Given the description of an element on the screen output the (x, y) to click on. 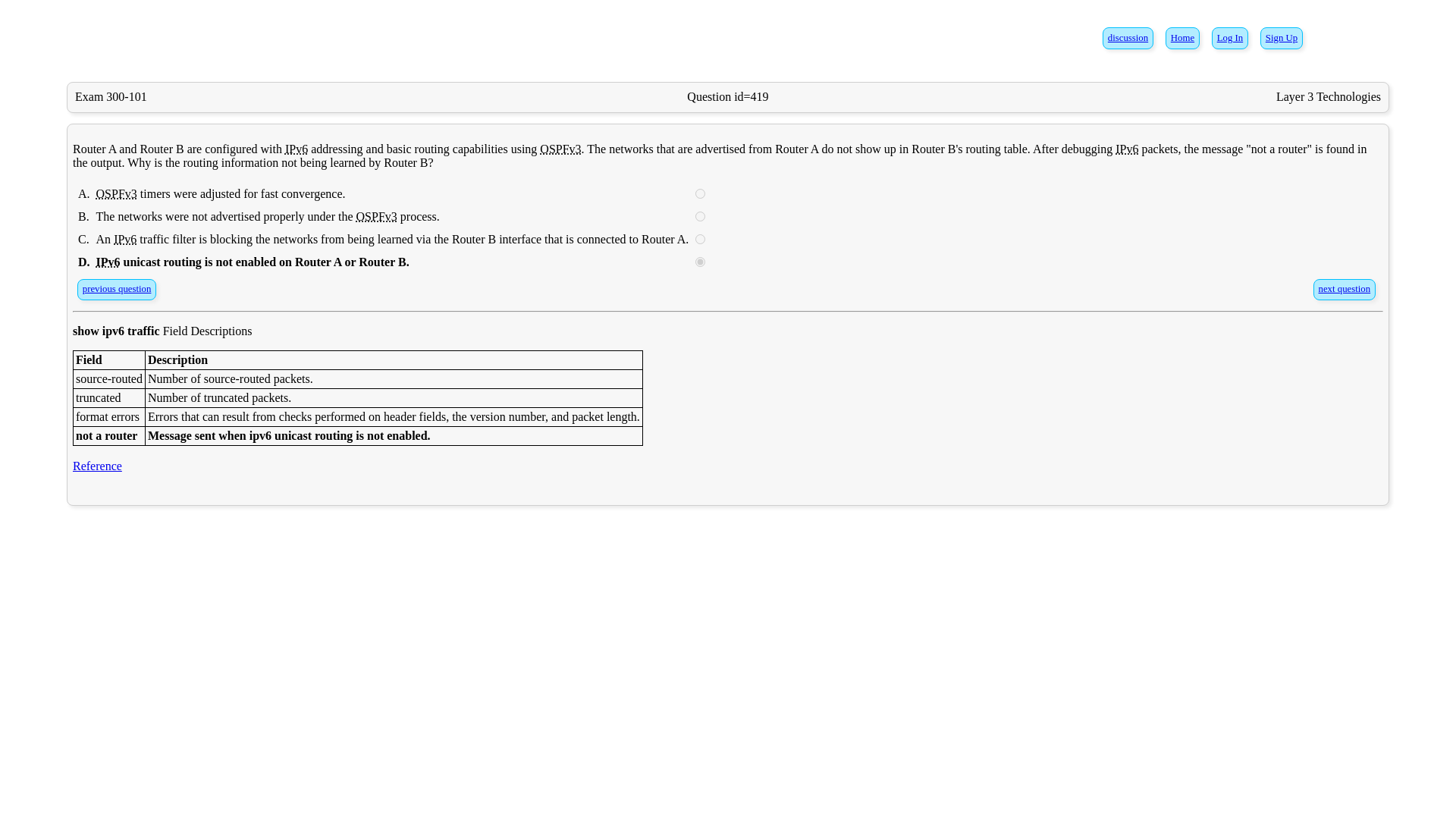
discussion (1128, 37)
on (699, 216)
Internet Protocol version 6 (108, 261)
Sign Up (1281, 37)
Open Shortest Path First version 3 (560, 148)
Home (1181, 37)
Internet Protocol version 6 (296, 148)
previous question (116, 288)
on (699, 261)
Internet Protocol version 6 (124, 238)
on (699, 194)
Open Shortest Path First version 3 (116, 193)
Log In (1230, 37)
Reference (97, 465)
on (699, 239)
